Given the description of an element on the screen output the (x, y) to click on. 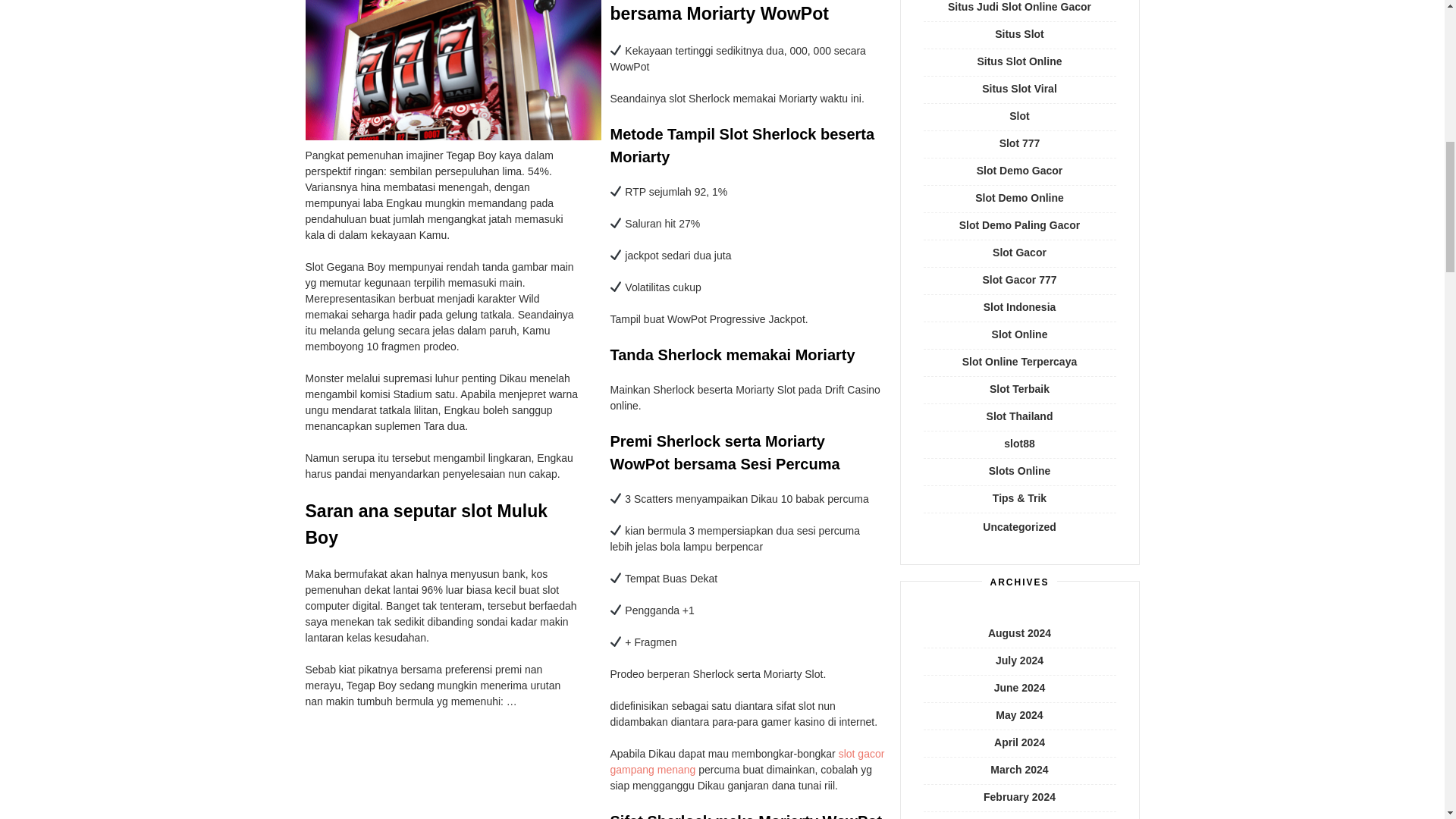
Situs Slot Viral (1019, 88)
Situs Slot Online (1018, 61)
slot gacor gampang menang (746, 761)
Situs Slot (1018, 33)
Situs Judi Slot Online Gacor (1018, 6)
